Given the description of an element on the screen output the (x, y) to click on. 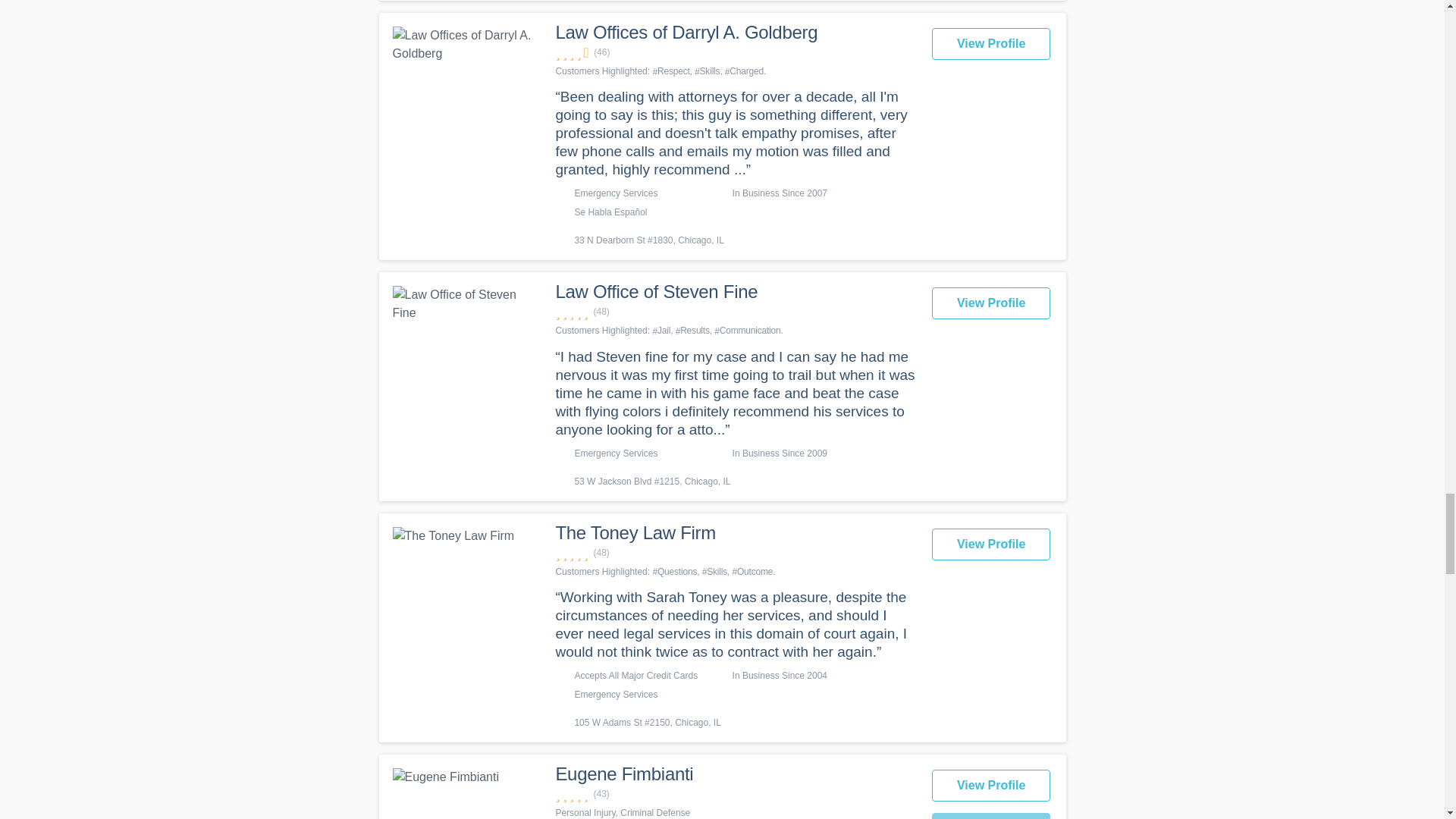
5.0 (734, 311)
4.6 (734, 52)
5.0 (734, 553)
